Given the description of an element on the screen output the (x, y) to click on. 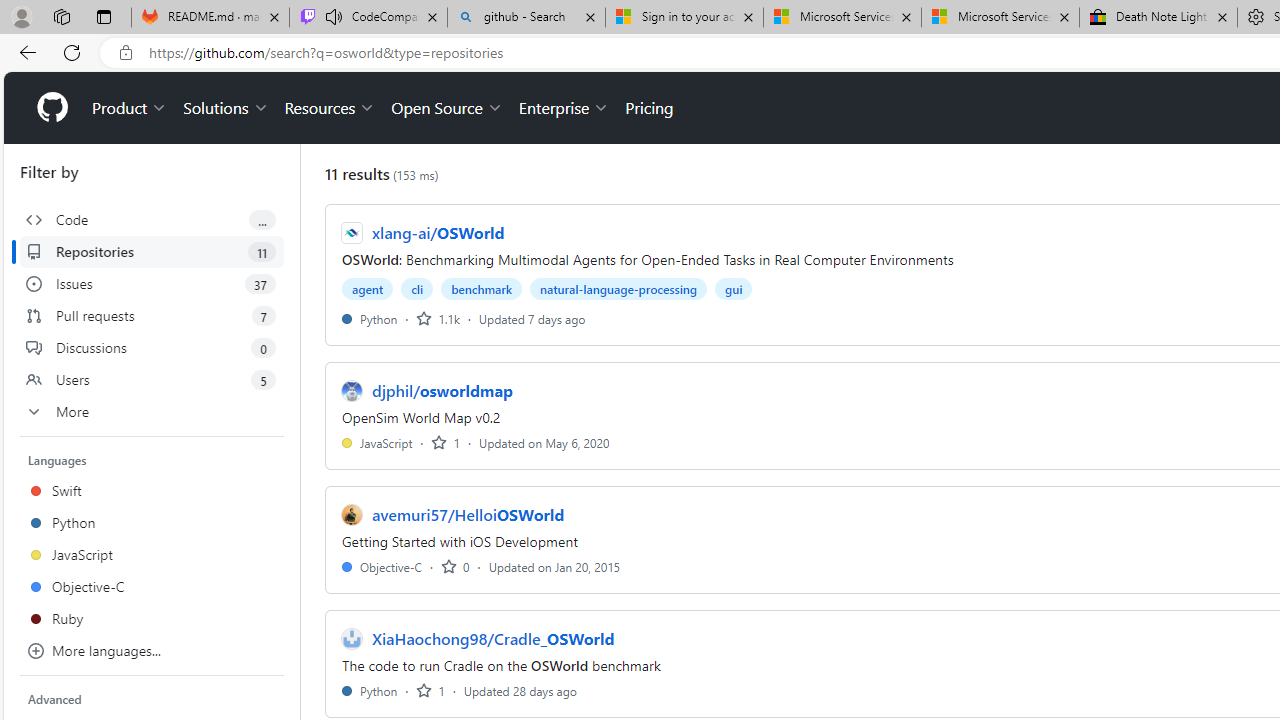
Updated 28 days ago (520, 690)
Mute tab (333, 16)
Product (130, 107)
github - Search (526, 17)
Sign in to your account (683, 17)
1.1k (437, 318)
